Given the description of an element on the screen output the (x, y) to click on. 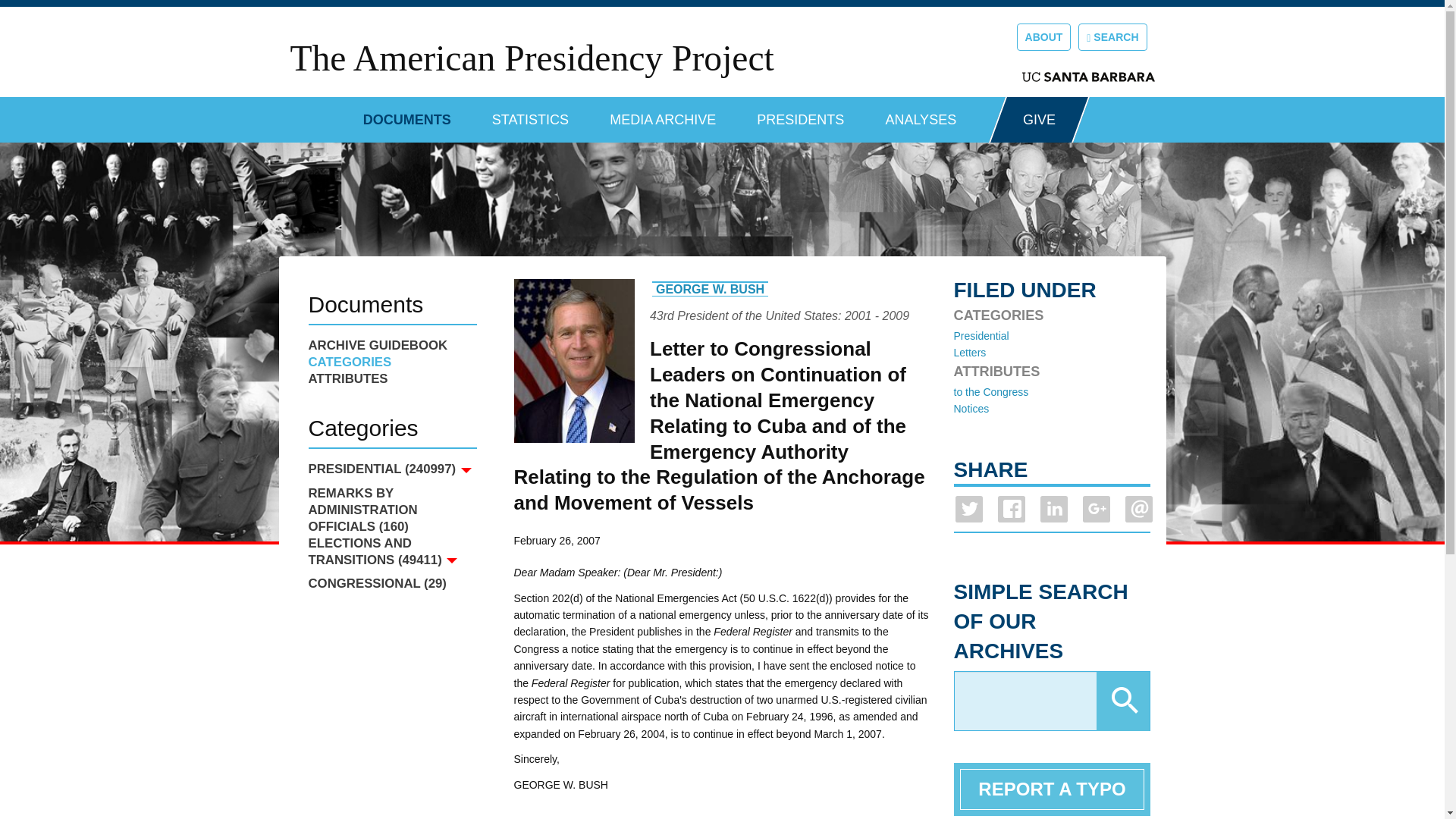
 SEARCH (1112, 36)
ATTRIBUTES (391, 379)
MEDIA ARCHIVE (663, 113)
DOCUMENTS (406, 113)
ANALYSES (920, 113)
PRESIDENTS (800, 113)
ABOUT (1043, 36)
STATISTICS (530, 113)
CATEGORIES (391, 362)
The American Presidency Project (531, 57)
ARCHIVE GUIDEBOOK (391, 345)
GIVE (1038, 119)
